Given the description of an element on the screen output the (x, y) to click on. 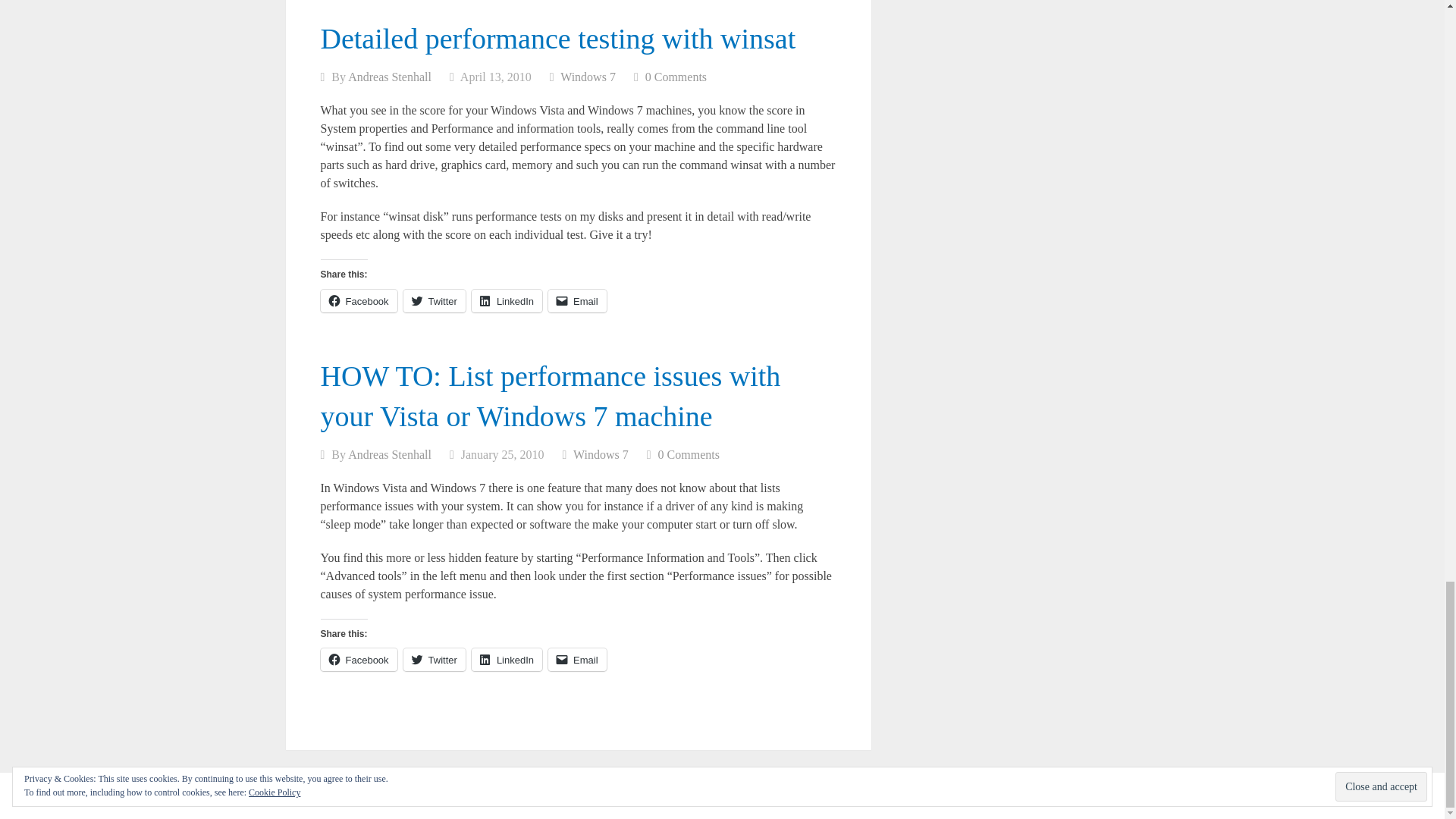
Twitter (434, 300)
Detailed performance testing with winsat (557, 38)
Click to share on Twitter (434, 659)
Andreas Stenhall (388, 454)
0 Comments (688, 454)
Click to share on Facebook (358, 300)
LinkedIn (506, 300)
Posts by Andreas Stenhall (388, 76)
Posts by Andreas Stenhall (388, 454)
Email (577, 300)
Click to email a link to a friend (577, 300)
Click to share on Facebook (358, 659)
0 Comments (675, 76)
Facebook (358, 300)
